Given the description of an element on the screen output the (x, y) to click on. 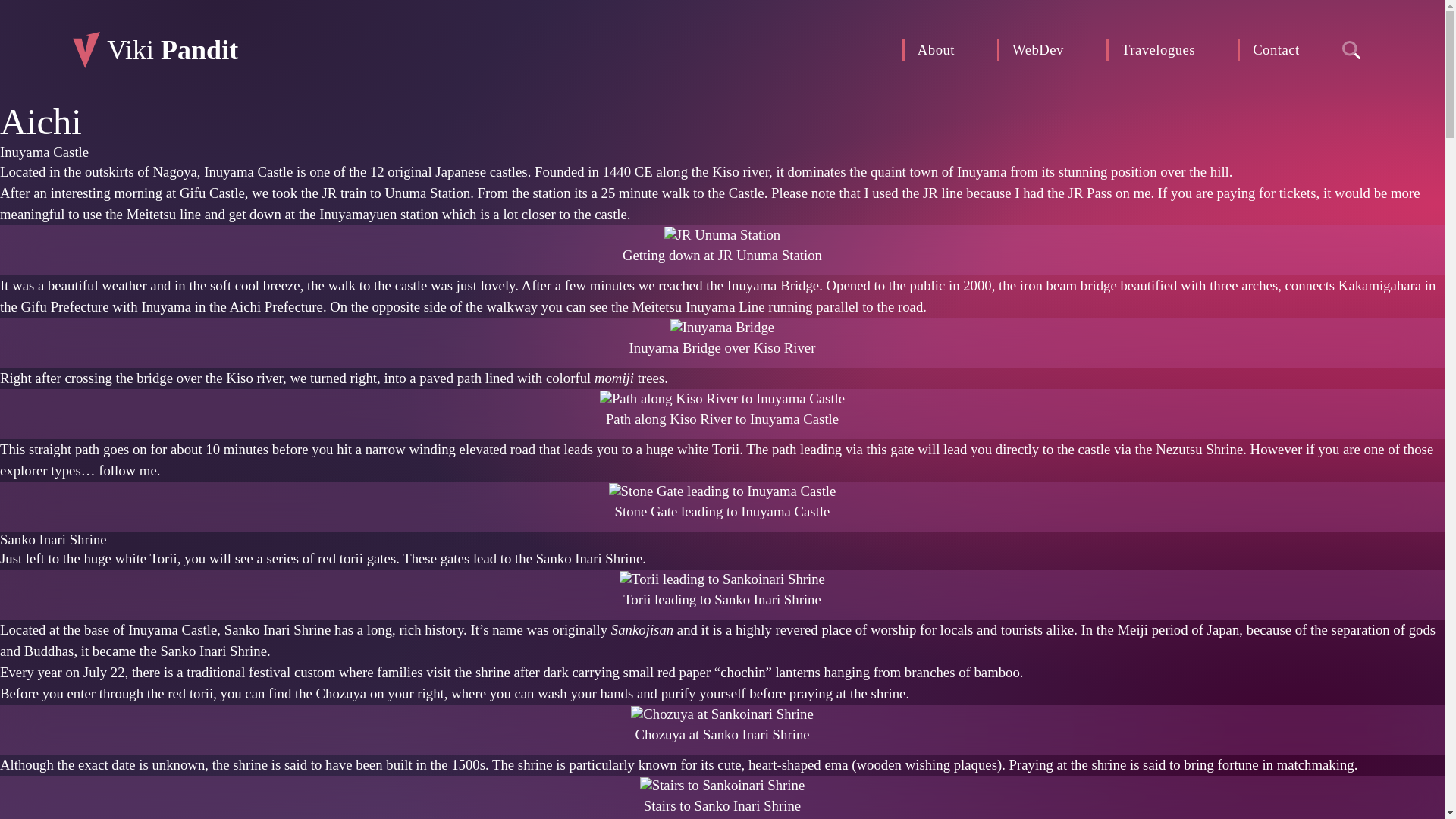
Chozuya at Sankoinari Shrine (721, 713)
Inuyama Bridge (721, 327)
JR Unuma Station (721, 234)
Search (1350, 49)
Inuyama Bridge over Kiso River (721, 325)
About (928, 49)
Contact (1268, 49)
Torii leading to Sankoinari Shrine (722, 579)
Stone Gate leading to Inuyama Castle (721, 491)
WebDev (1030, 49)
Stairs to Sanko Inari Shrine (722, 783)
Stairs to Sankoinari Shrine (722, 785)
Viki Pandit (154, 49)
Path along Kiso River to Inuyama Castle (721, 396)
Getting down at JR Unuma Station (721, 232)
